Given the description of an element on the screen output the (x, y) to click on. 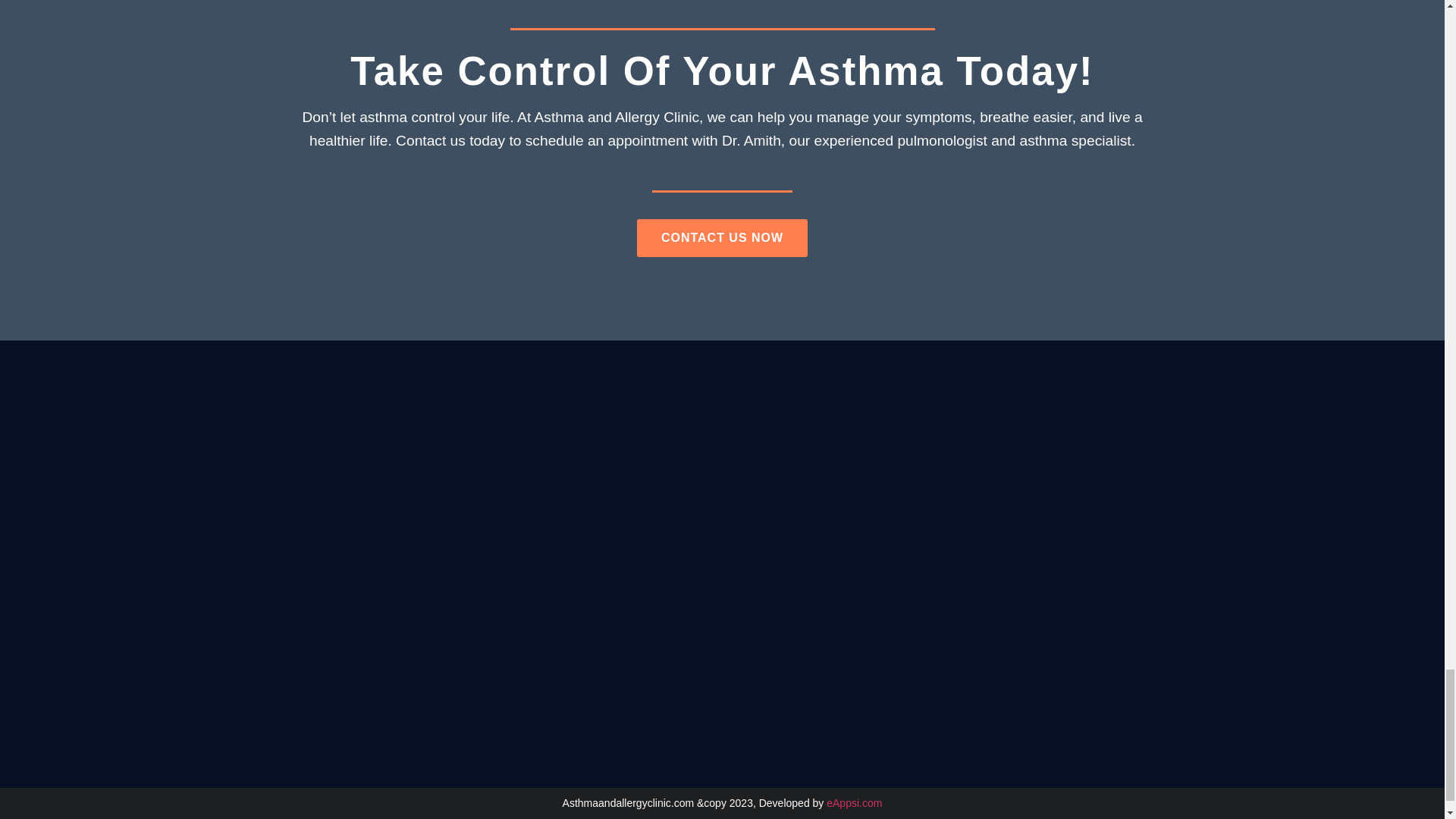
CONTACT US NOW (722, 238)
eAppsi.com (854, 802)
